Given the description of an element on the screen output the (x, y) to click on. 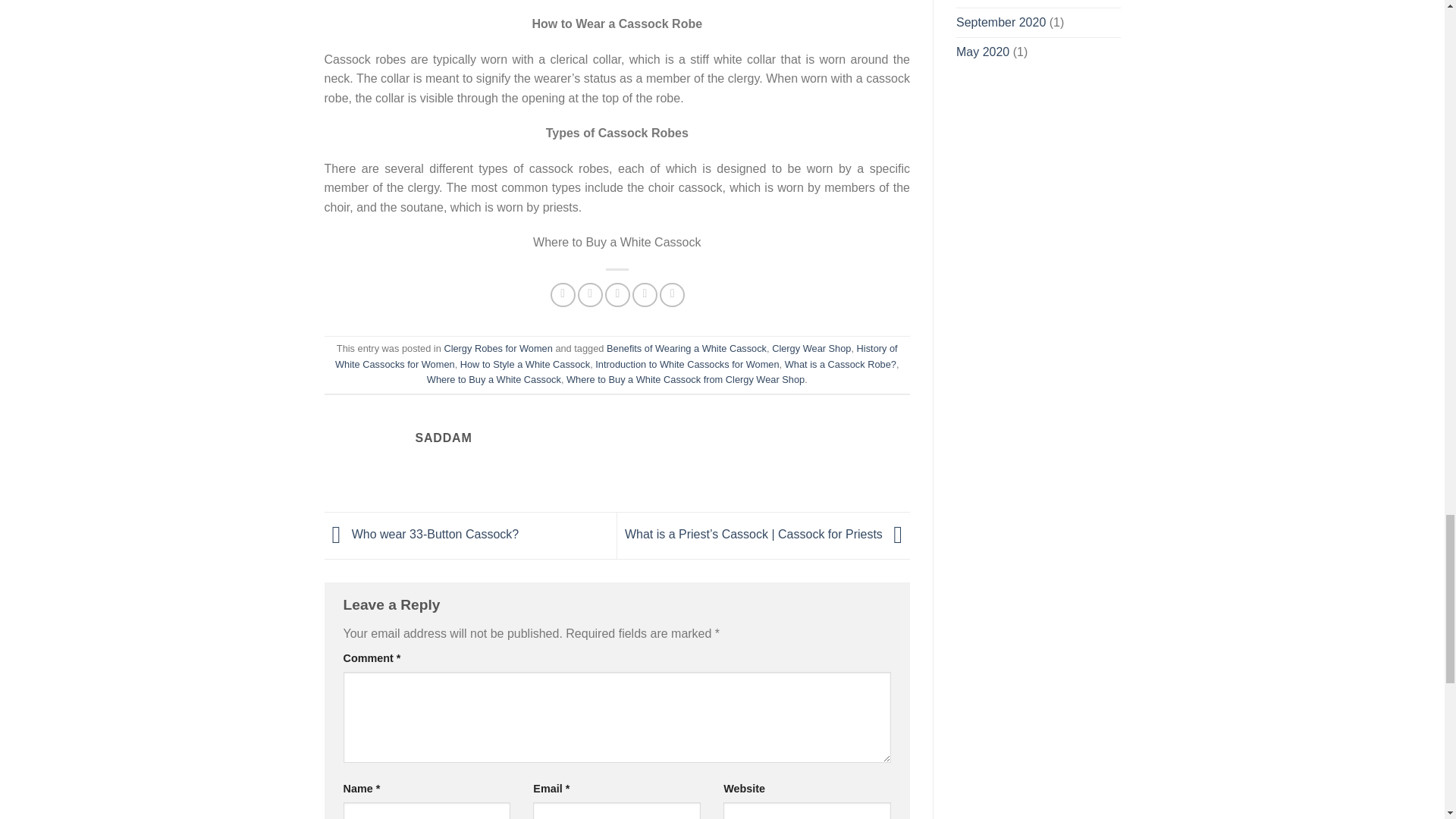
Share on Facebook (562, 294)
Share on LinkedIn (671, 294)
Pin on Pinterest (644, 294)
Share on Twitter (590, 294)
Email to a Friend (617, 294)
